Given the description of an element on the screen output the (x, y) to click on. 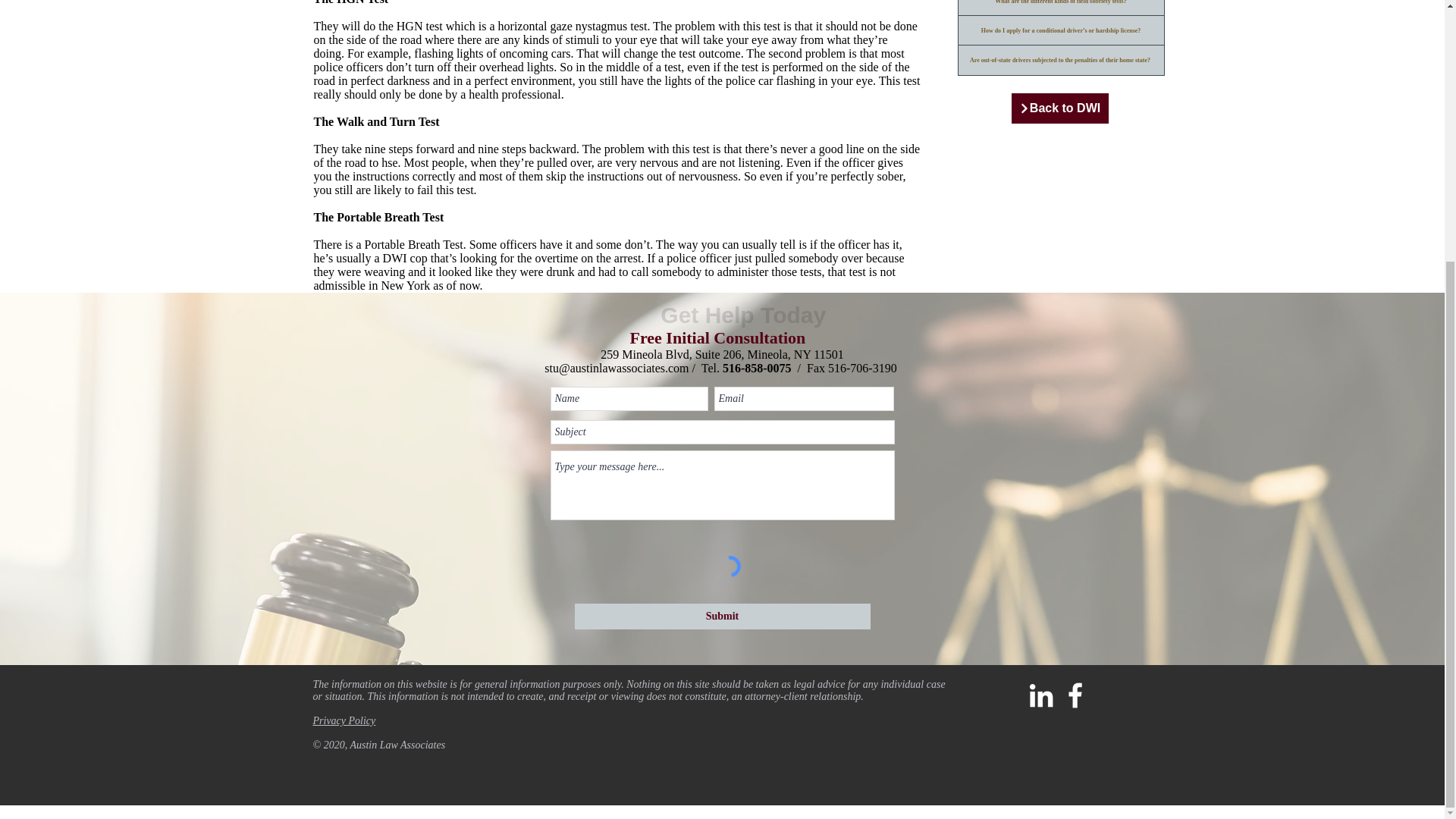
Back to DWI (1059, 108)
Privacy Policy (344, 720)
516-858-0075 (757, 367)
259 Mineola Blvd, Suite 206, Mineola, NY 11501 (721, 354)
Submit (722, 616)
What are the different kinds of field sobriety tests? (1060, 7)
